Given the description of an element on the screen output the (x, y) to click on. 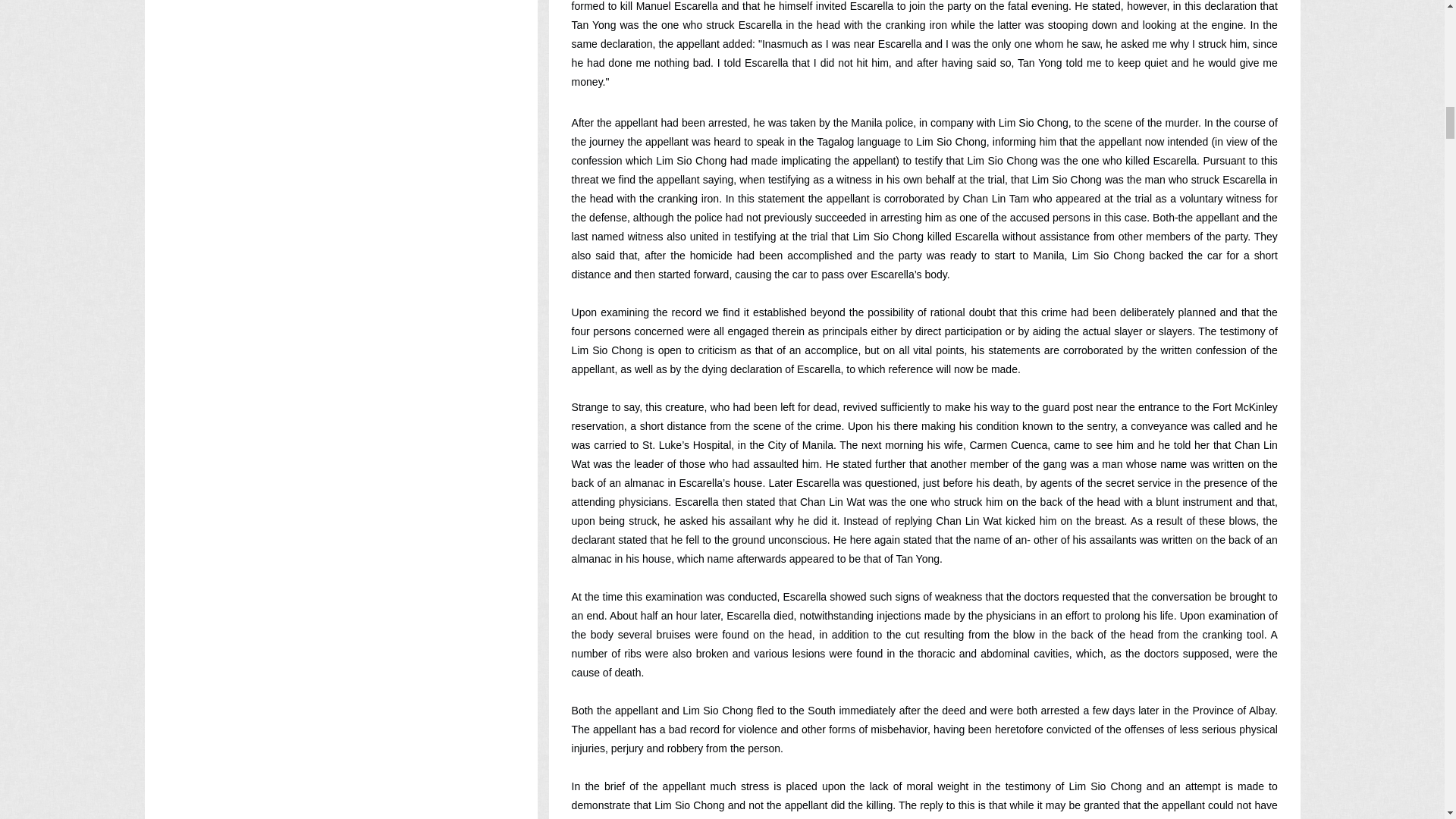
Advertisement (340, 582)
Advertisement (340, 370)
Advertisement (340, 129)
Advertisement (340, 754)
